Given the description of an element on the screen output the (x, y) to click on. 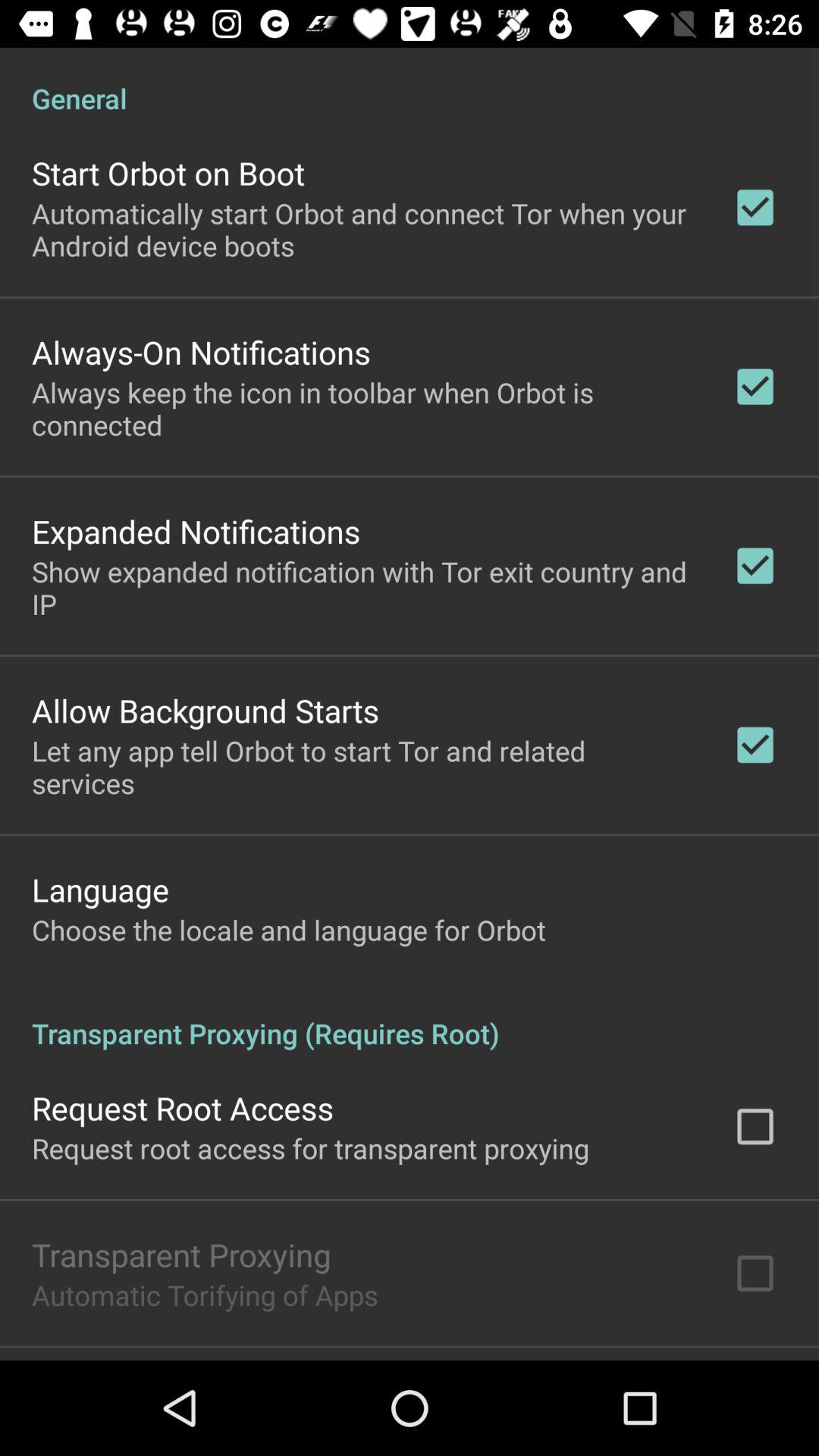
turn on the item below allow background starts app (361, 766)
